Given the description of an element on the screen output the (x, y) to click on. 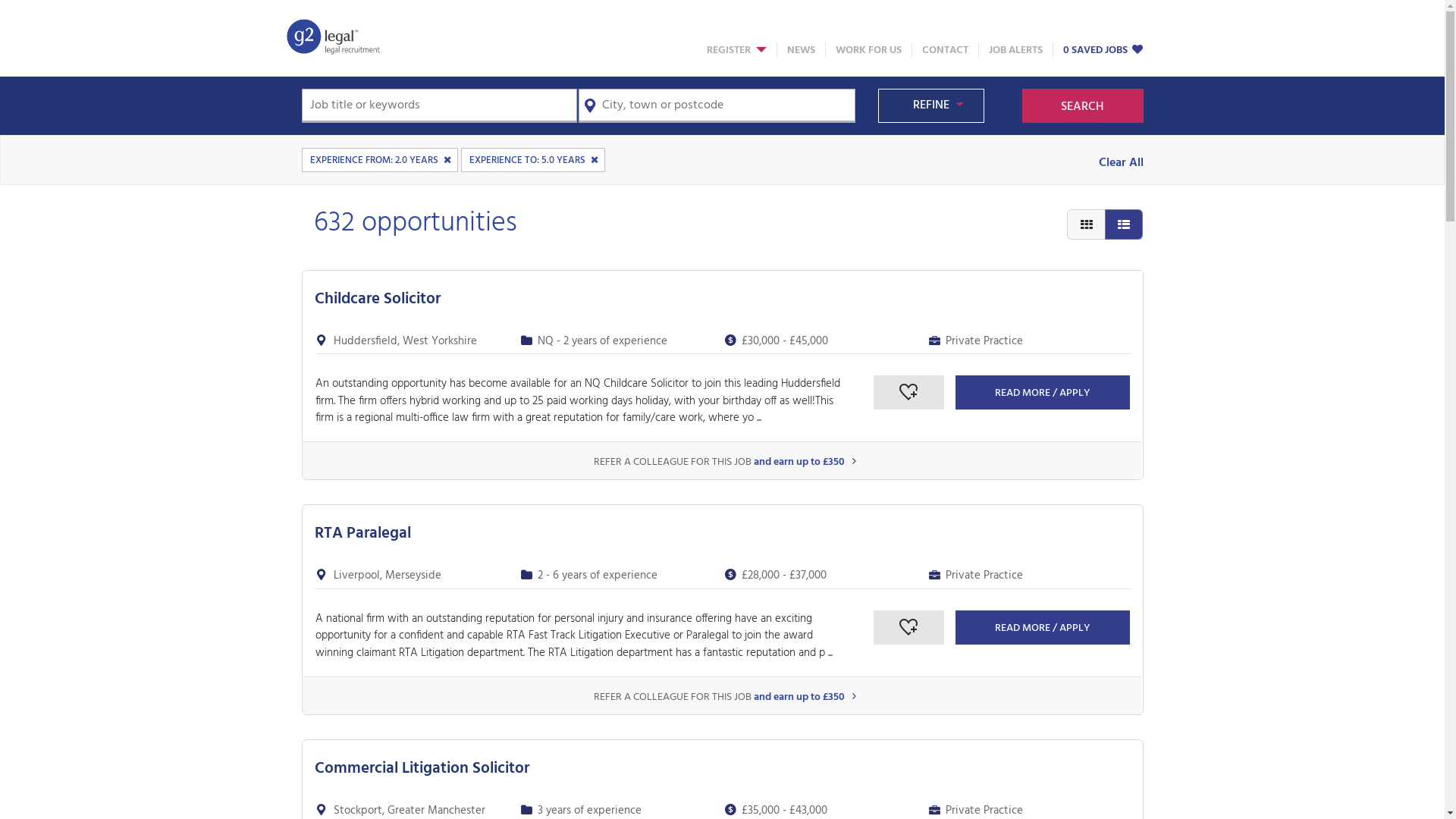
Private Practice Element type: text (983, 341)
0 SAVED JOBS Element type: text (1104, 50)
NEWS Element type: text (801, 50)
READ MORE / APPLY Element type: text (1042, 392)
REFINE Element type: text (931, 105)
Clear All Element type: text (1120, 162)
CONTACT Element type: text (945, 50)
REGISTER Element type: text (736, 50)
NQ - 2 years of experience Element type: text (601, 341)
EXPERIENCE FROM: 2.0 YEARS Element type: text (379, 159)
WORK FOR US Element type: text (868, 50)
READ MORE / APPLY Element type: text (1042, 627)
Commercial Litigation Solicitor Element type: text (420, 768)
Liverpool, Merseyside Element type: text (387, 575)
Huddersfield, West Yorkshire Element type: text (404, 341)
RTA Paralegal Element type: text (361, 533)
Private Practice Element type: text (983, 575)
SEARCH Element type: text (1082, 105)
2 - 6 years of experience Element type: text (596, 575)
JOB ALERTS Element type: text (1015, 50)
Childcare Solicitor Element type: text (376, 298)
EXPERIENCE TO: 5.0 YEARS Element type: text (533, 159)
